Given the description of an element on the screen output the (x, y) to click on. 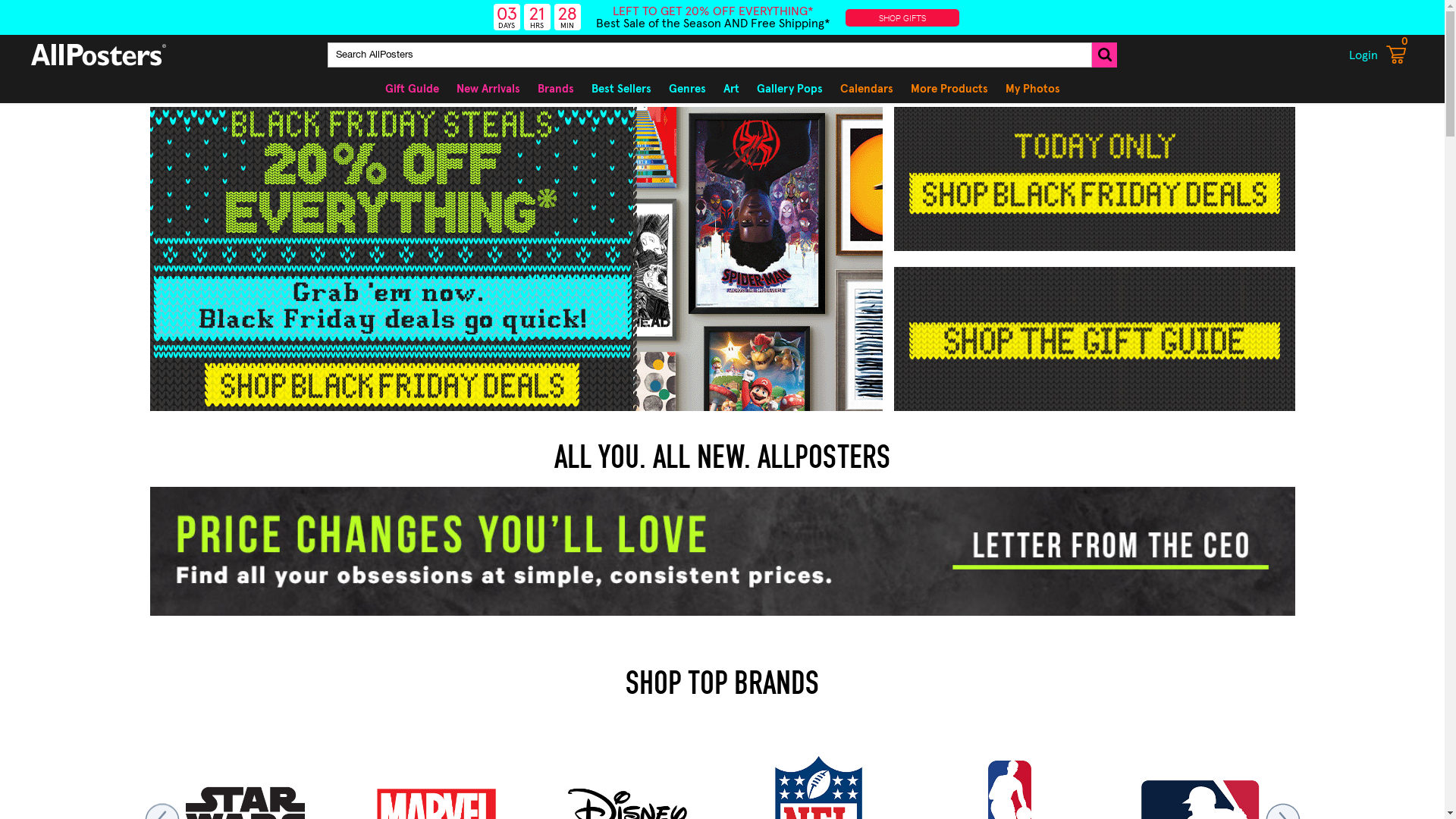
Best Sellers Element type: text (620, 88)
Cart Element type: hover (1395, 54)
My Photos Element type: text (1032, 88)
New Arrivals Element type: text (487, 88)
More Products Element type: text (948, 88)
Brands Element type: text (554, 88)
Gallery Pops Element type: text (789, 88)
Gift Guide Element type: text (411, 88)
Calendars Element type: text (866, 88)
0 Element type: text (1395, 55)
Login Element type: text (1363, 55)
Genres Element type: text (687, 88)
Art Element type: text (730, 88)
